Given the description of an element on the screen output the (x, y) to click on. 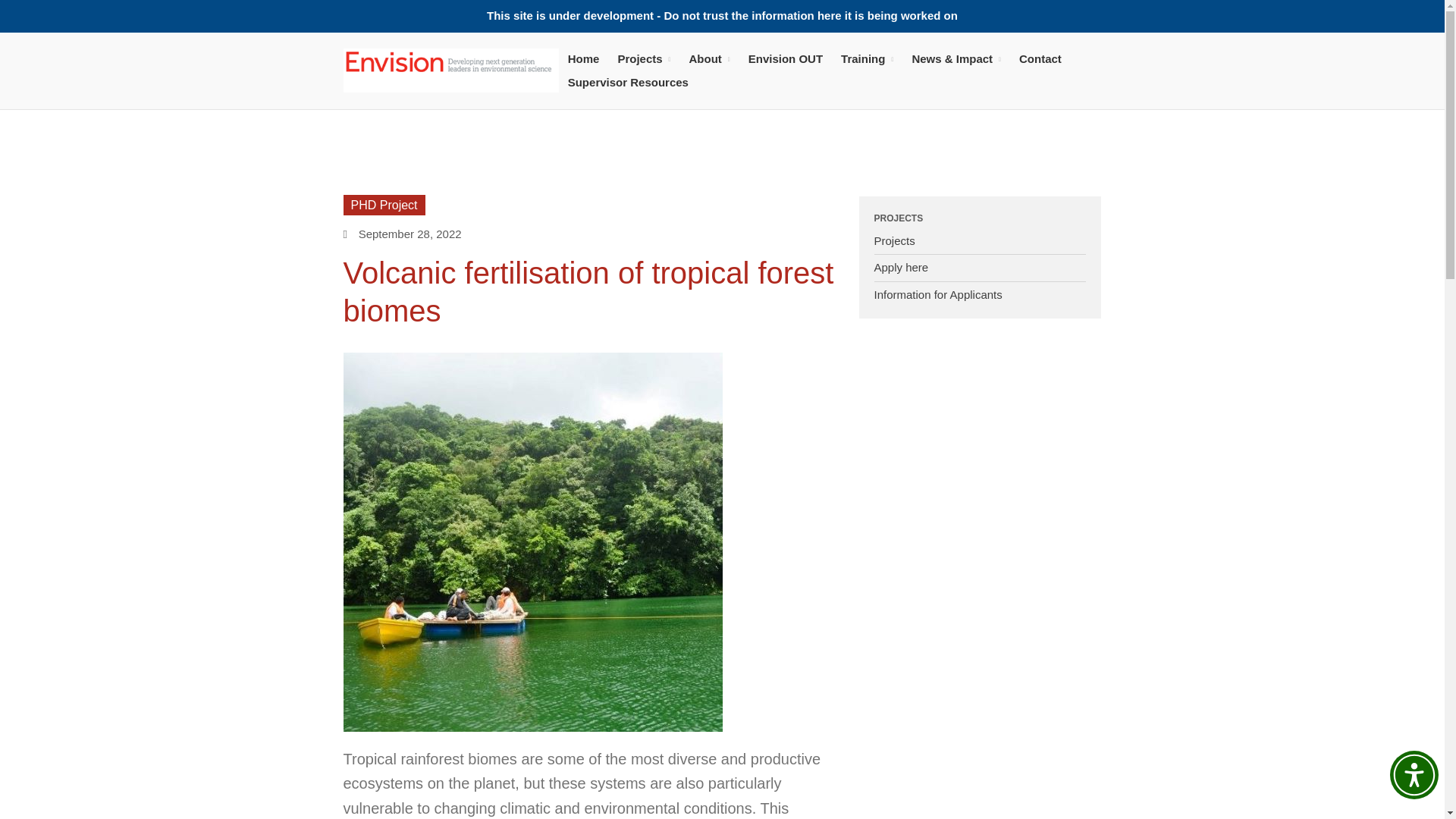
Projects (644, 58)
Accessibility Menu (1414, 775)
About (709, 58)
Home (583, 57)
